Given the description of an element on the screen output the (x, y) to click on. 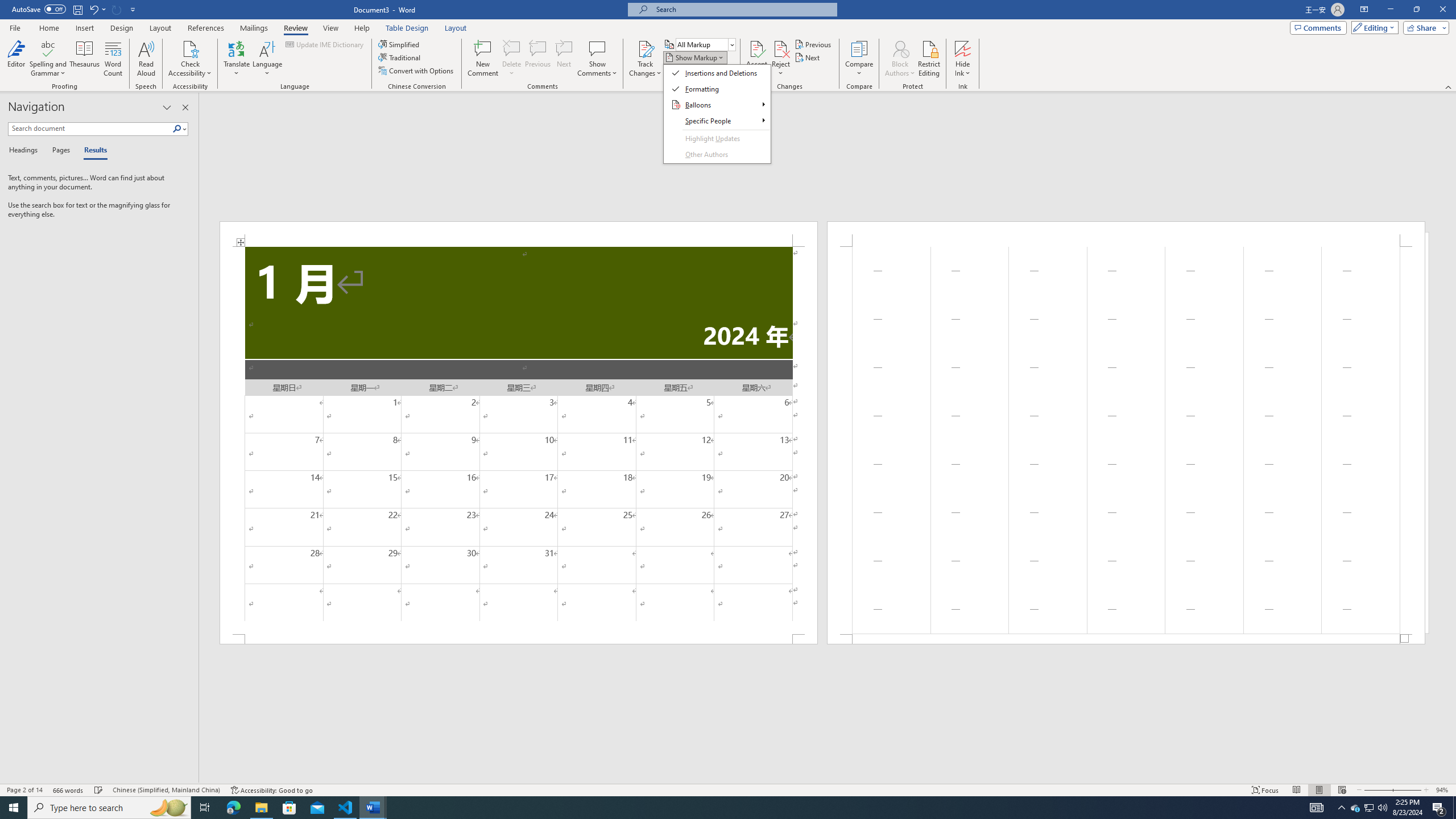
Restrict Editing (929, 58)
Translate (236, 58)
Read Aloud (145, 58)
